Given the description of an element on the screen output the (x, y) to click on. 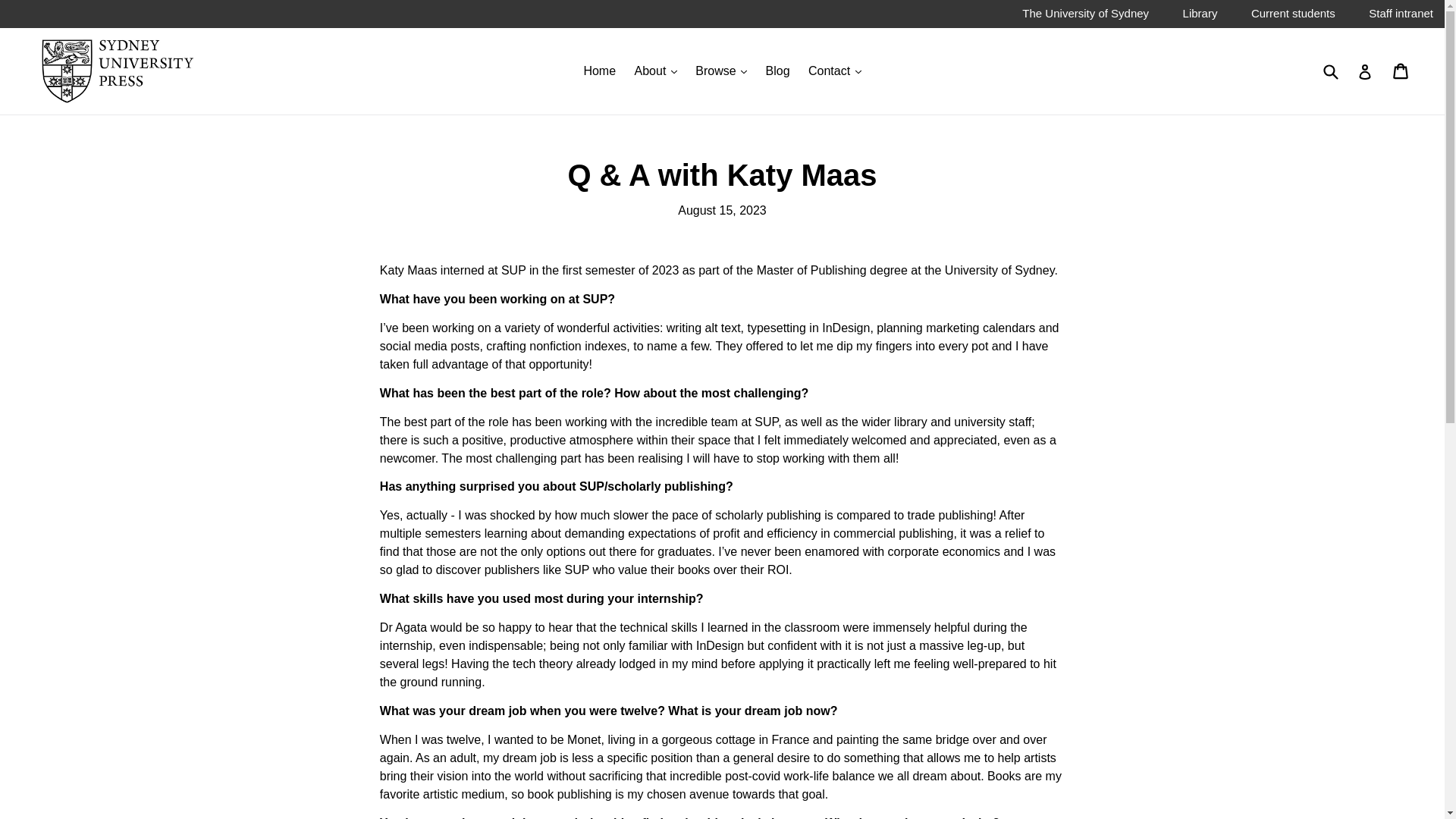
Home (599, 70)
Staff intranet (1400, 17)
Current students (1292, 17)
The University of Sydney (1085, 17)
Library (1199, 17)
